Given the description of an element on the screen output the (x, y) to click on. 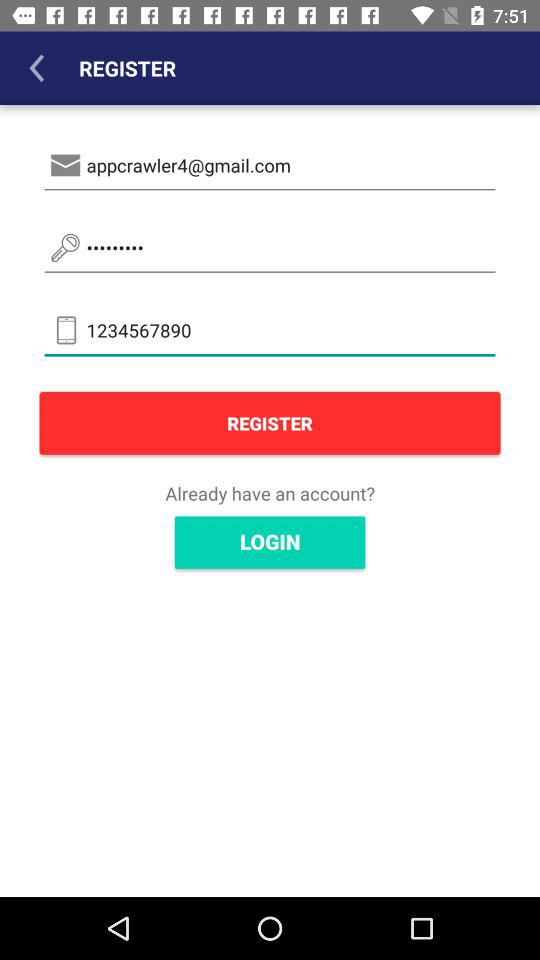
press crowd3116 icon (269, 248)
